Given the description of an element on the screen output the (x, y) to click on. 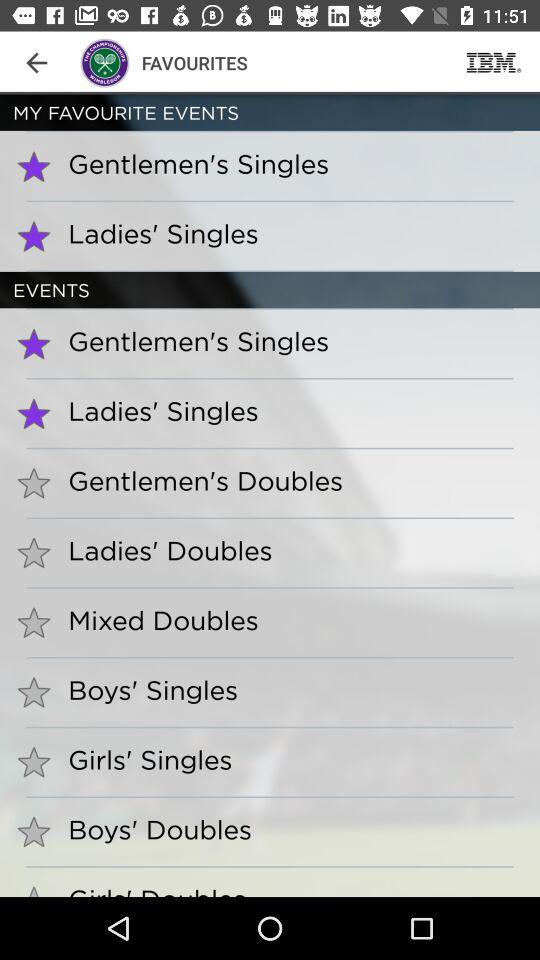
jump to my favourite events item (270, 112)
